Given the description of an element on the screen output the (x, y) to click on. 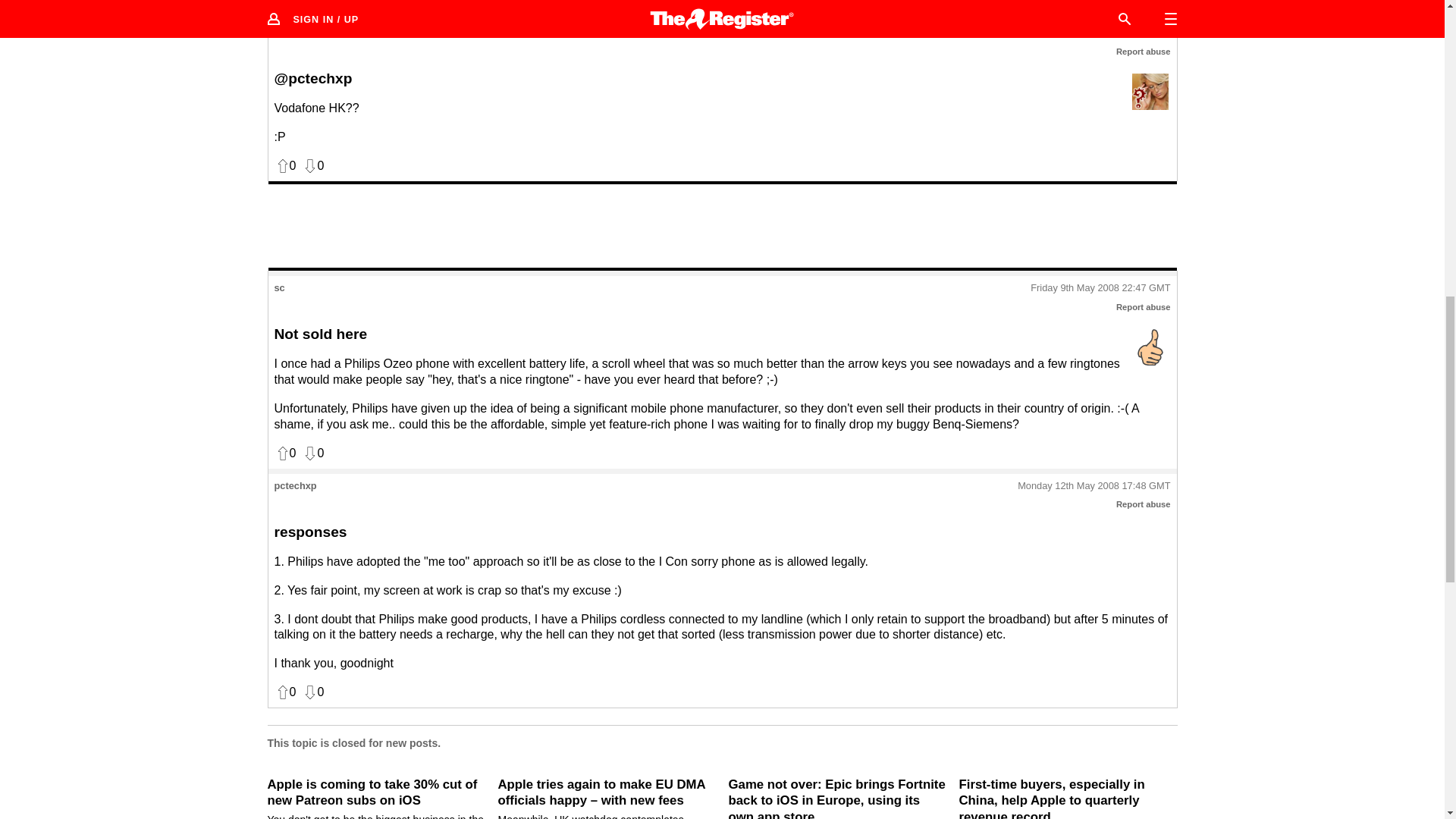
Report abuse (1143, 51)
Inappropriate post? Report it to our moderators (1143, 51)
Dislike this post? Vote it down! (312, 3)
Report abuse (1143, 307)
Report abuse (1143, 503)
Like this post? Vote for it! (286, 3)
Permalink to this post (1100, 32)
